Given the description of an element on the screen output the (x, y) to click on. 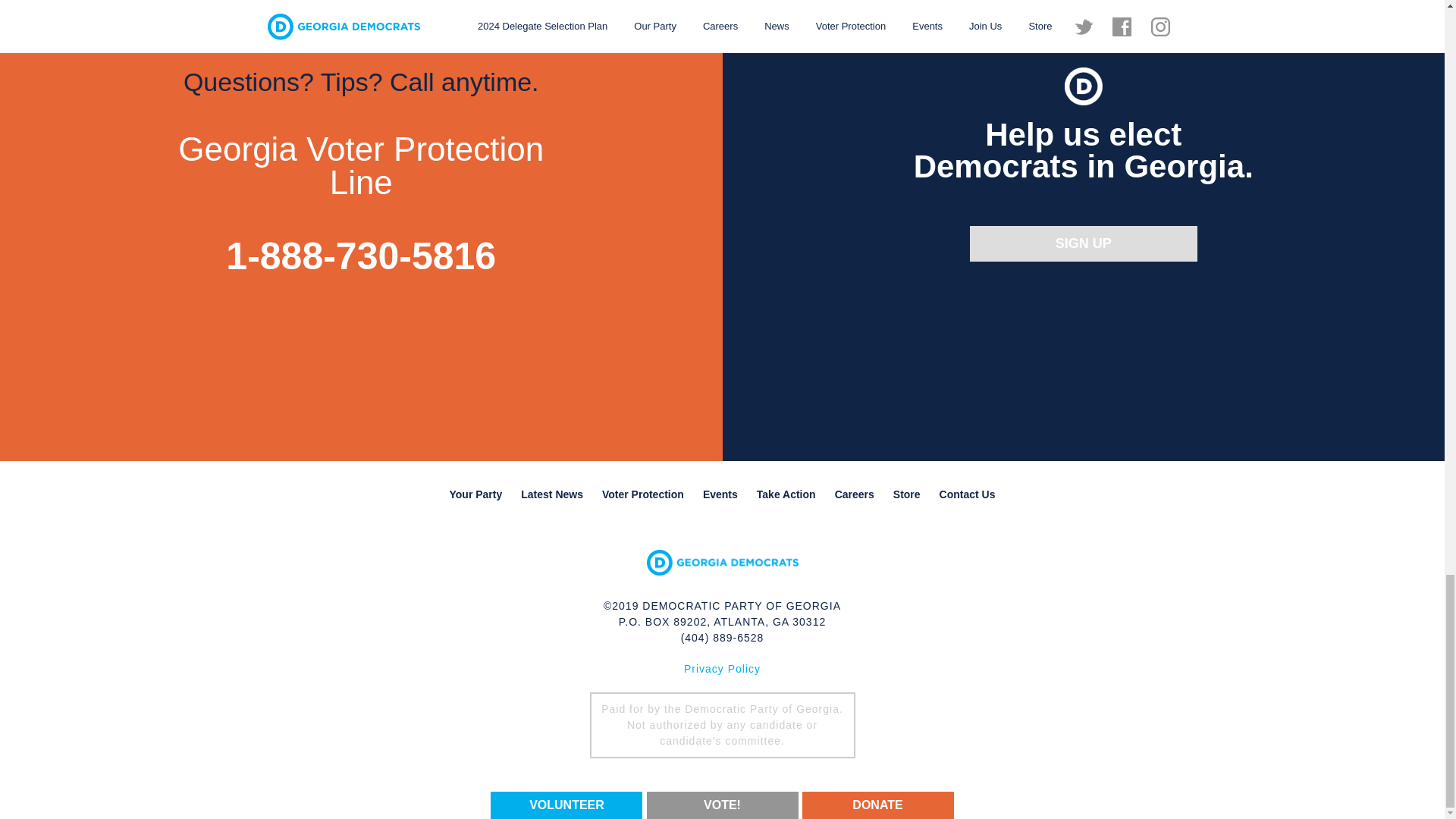
Store (906, 494)
Events (720, 494)
Voter Protection (642, 494)
Your Party (475, 494)
Privacy Policy (722, 668)
Latest News (552, 494)
SIGN UP (1082, 243)
Take Action (786, 494)
SIGN UP (1083, 243)
Careers (854, 494)
